Given the description of an element on the screen output the (x, y) to click on. 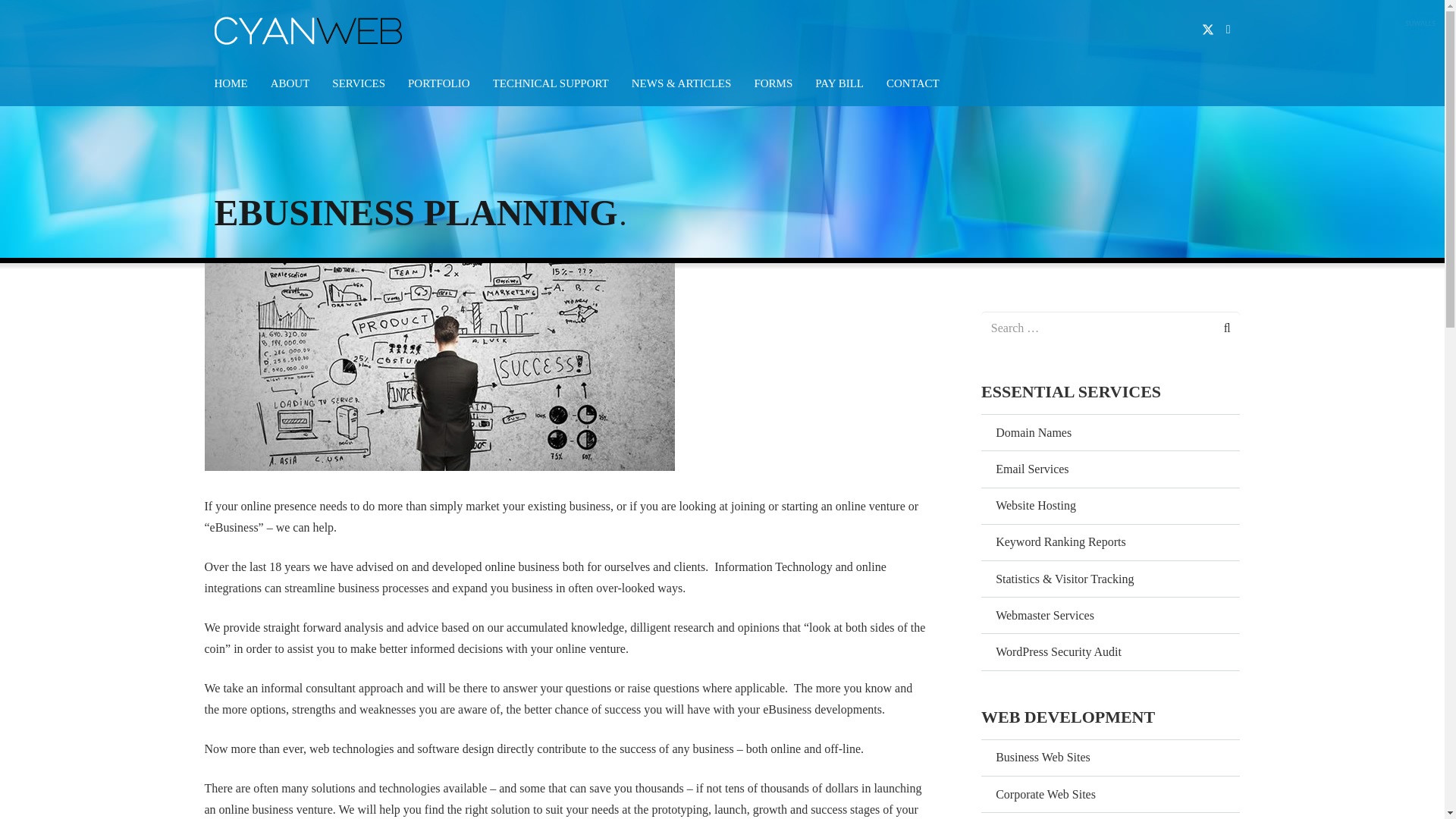
Facebook (1227, 29)
SERVICES (358, 83)
Domain Names (1110, 432)
TECHNICAL SUPPORT (550, 83)
Website Hosting (1110, 505)
FORMS (773, 83)
PORTFOLIO (438, 83)
CONTACT (912, 83)
Twitter (1208, 29)
PAY BILL (839, 83)
HOME (230, 83)
Webmaster Services (1110, 615)
ABOUT (290, 83)
Corporate Web Sites (1110, 793)
Business Web Sites (1110, 757)
